Given the description of an element on the screen output the (x, y) to click on. 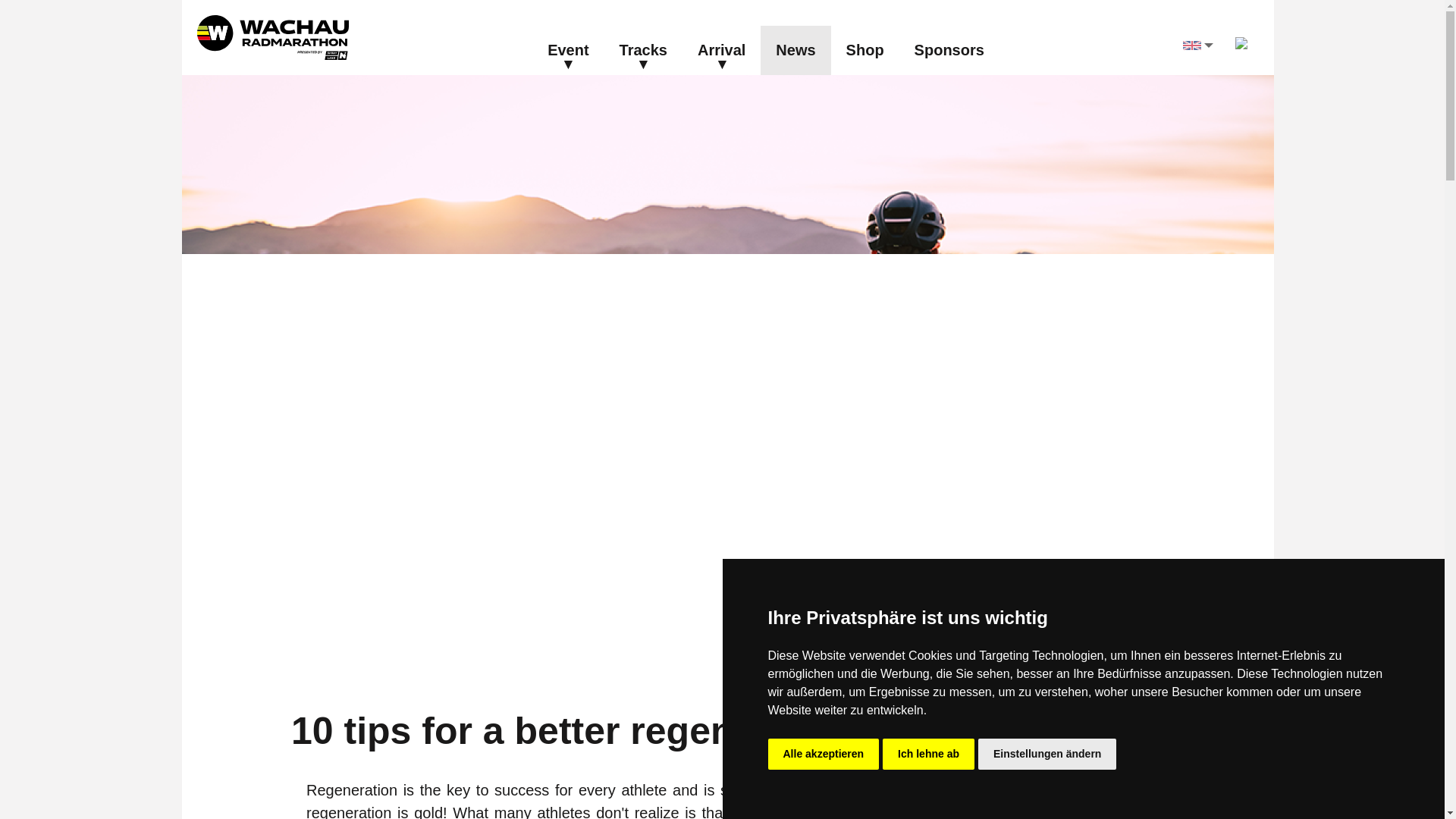
Wiesbauer (865, 50)
Shop (865, 50)
Sponsors (948, 50)
Ich lehne ab (928, 753)
News (794, 50)
Alle akzeptieren (823, 753)
